Given the description of an element on the screen output the (x, y) to click on. 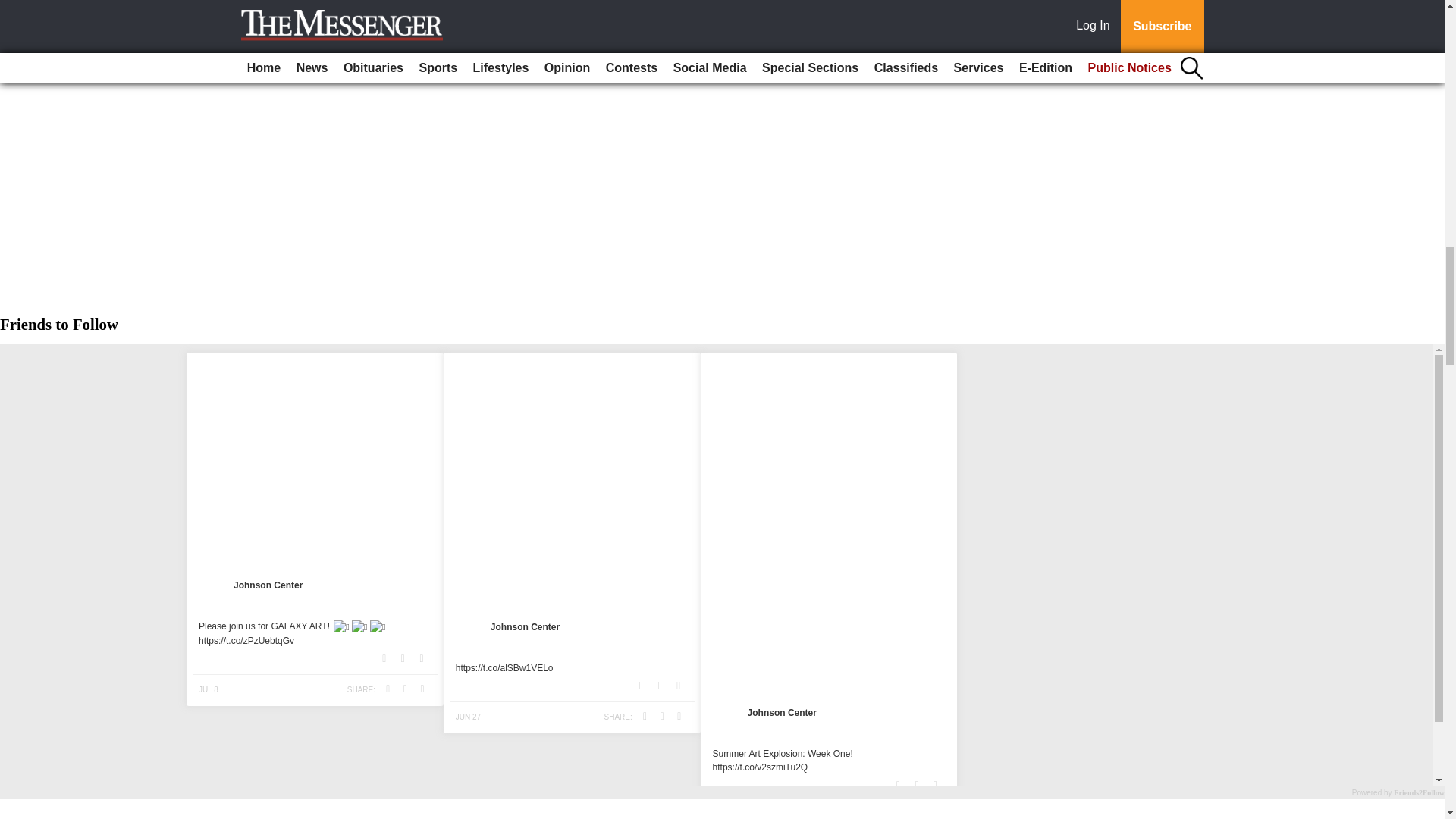
   Vote    (722, 23)
View Results Of This Poll (722, 55)
